Given the description of an element on the screen output the (x, y) to click on. 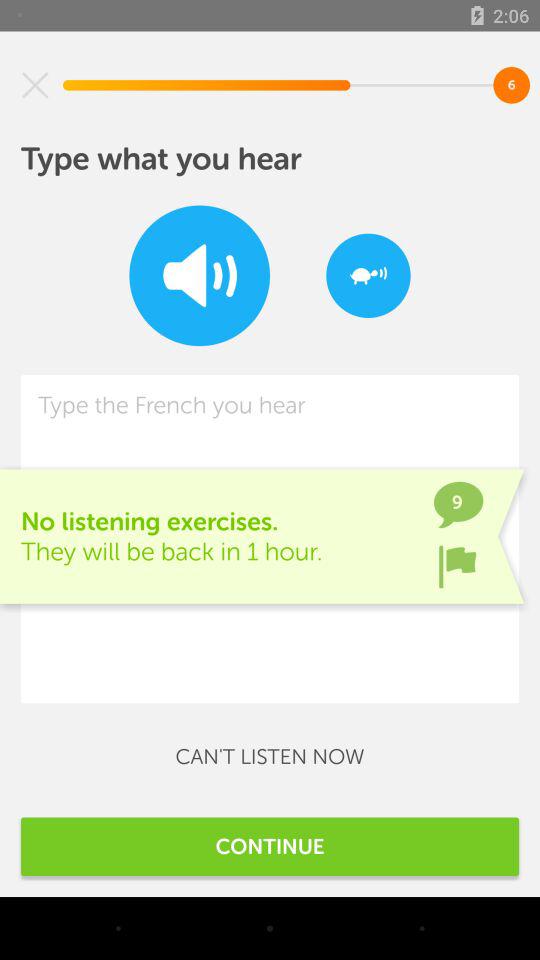
turn off item at the top left corner (35, 85)
